Given the description of an element on the screen output the (x, y) to click on. 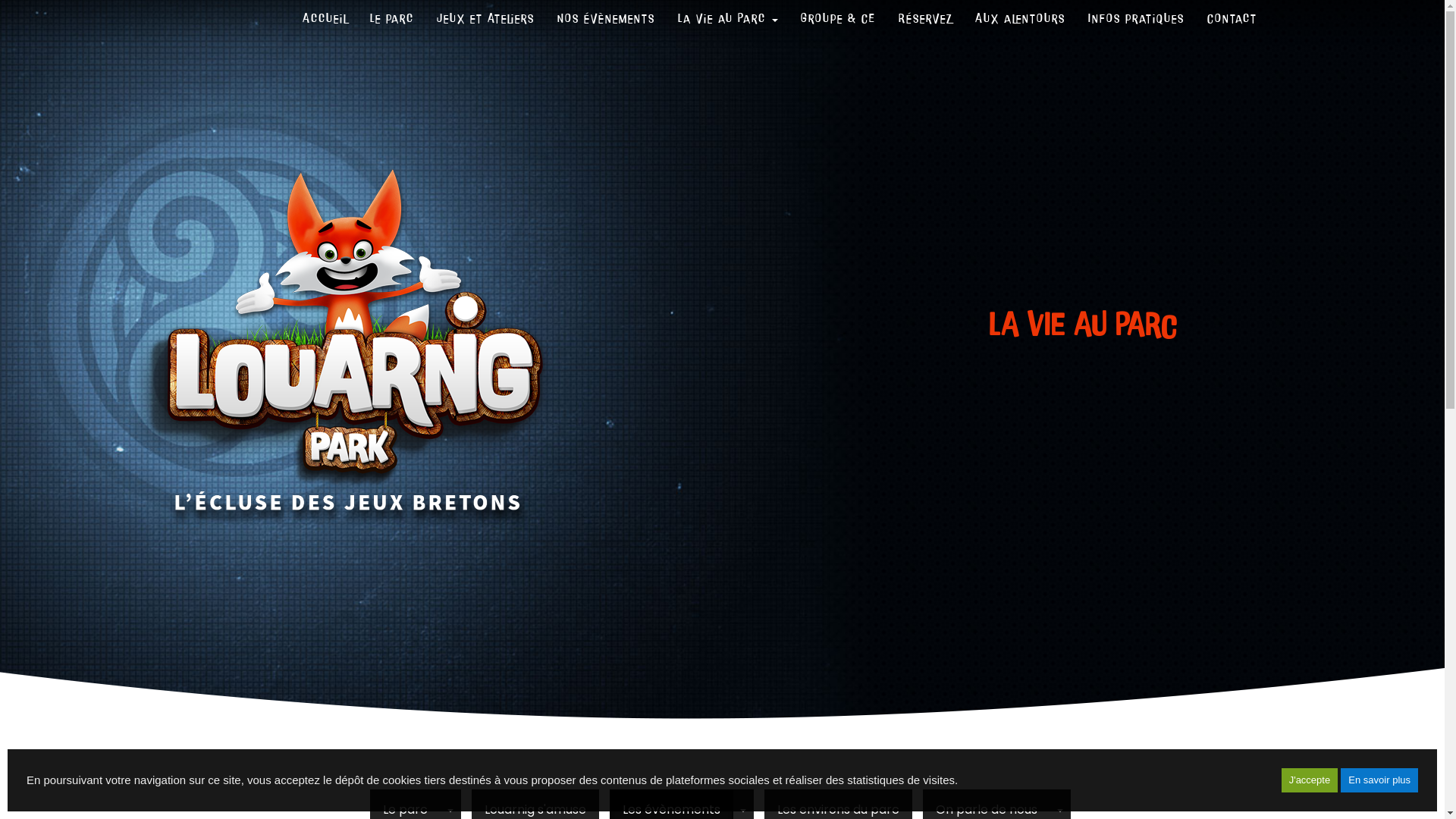
Jeux et Ateliers Element type: text (484, 18)
Groupe & CE Element type: text (837, 18)
Aux alentours Element type: text (1019, 18)
La vie au Parc Element type: text (726, 18)
Accueil Element type: text (324, 18)
J'accepte Element type: text (1309, 780)
Infos pratiques Element type: text (1135, 18)
En savoir plus Element type: text (1379, 780)
Le parc Element type: text (390, 18)
Contact Element type: text (1231, 18)
